Given the description of an element on the screen output the (x, y) to click on. 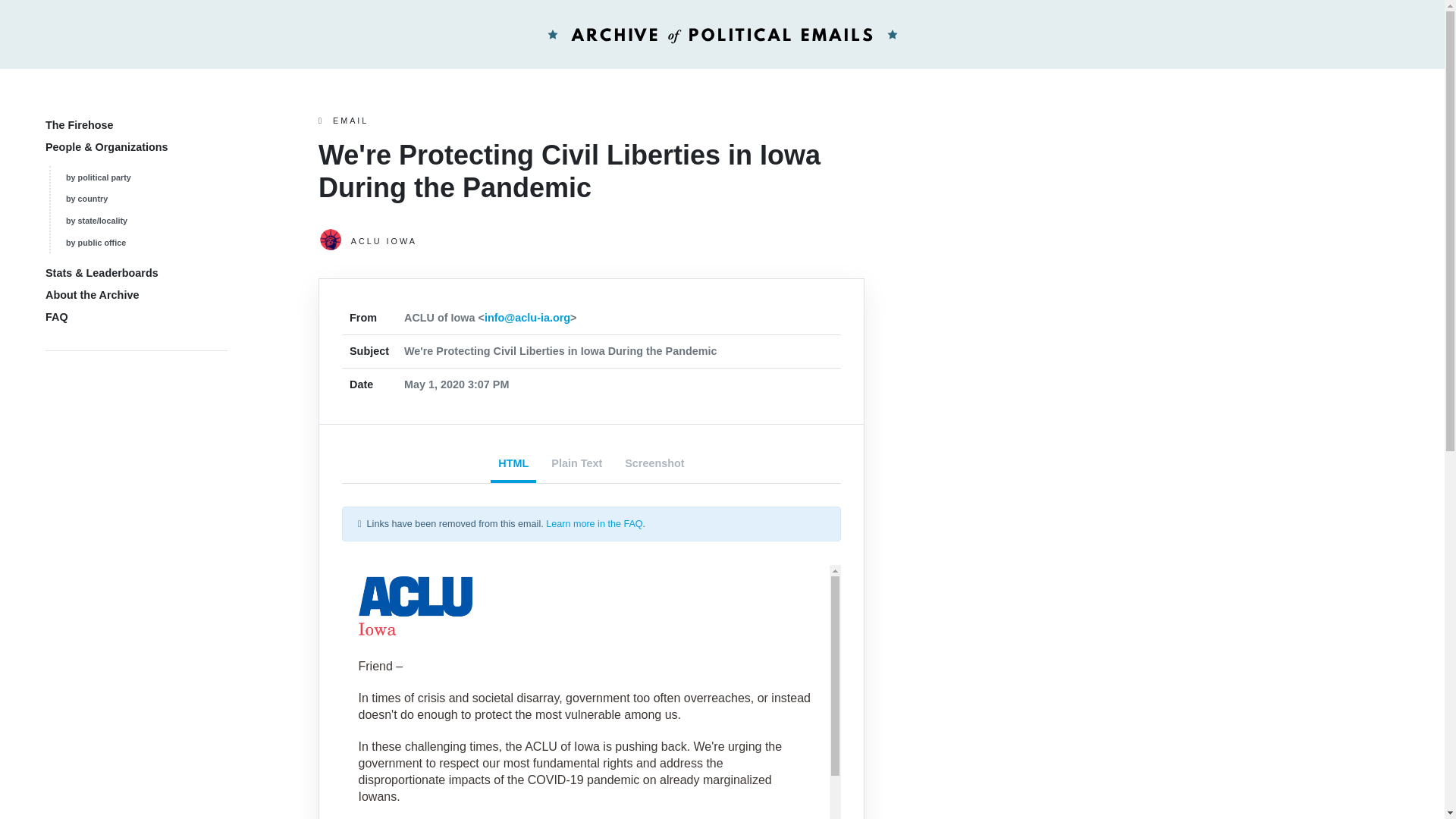
The Firehose (79, 124)
About the Archive (91, 295)
ACLU IOWA (591, 241)
by country (86, 198)
FAQ (56, 316)
Screenshot (654, 465)
Learn more in the FAQ (594, 523)
HTML (512, 465)
by political party (98, 176)
Plain Text (576, 465)
